Given the description of an element on the screen output the (x, y) to click on. 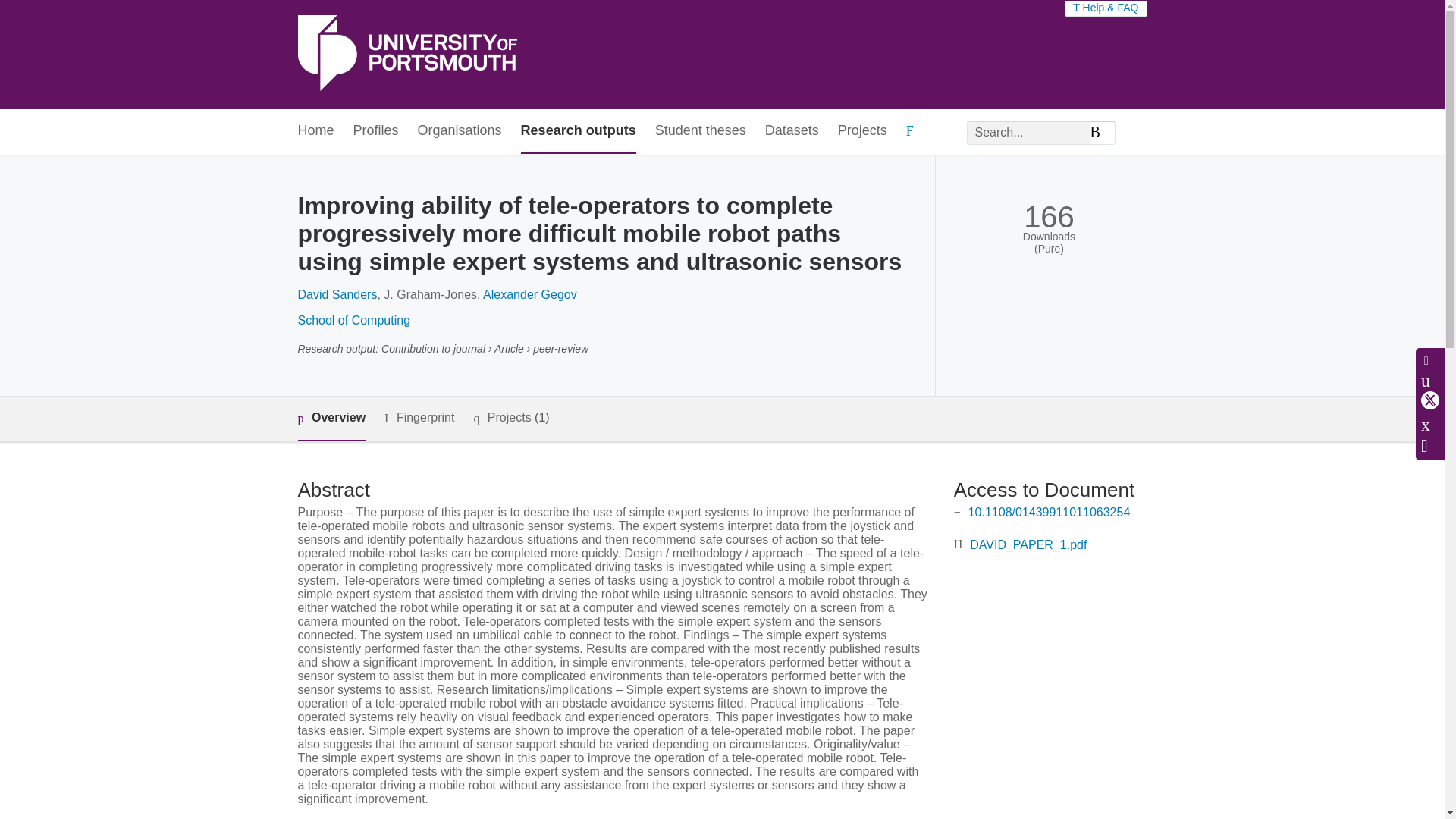
Overview (331, 418)
Research outputs (578, 130)
Projects (862, 130)
Alexander Gegov (529, 294)
David Sanders (337, 294)
Student theses (700, 130)
Fingerprint (419, 417)
Profiles (375, 130)
School of Computing (353, 319)
Home (315, 130)
Organisations (459, 130)
Datasets (791, 130)
University of Portsmouth Home (406, 54)
